Given the description of an element on the screen output the (x, y) to click on. 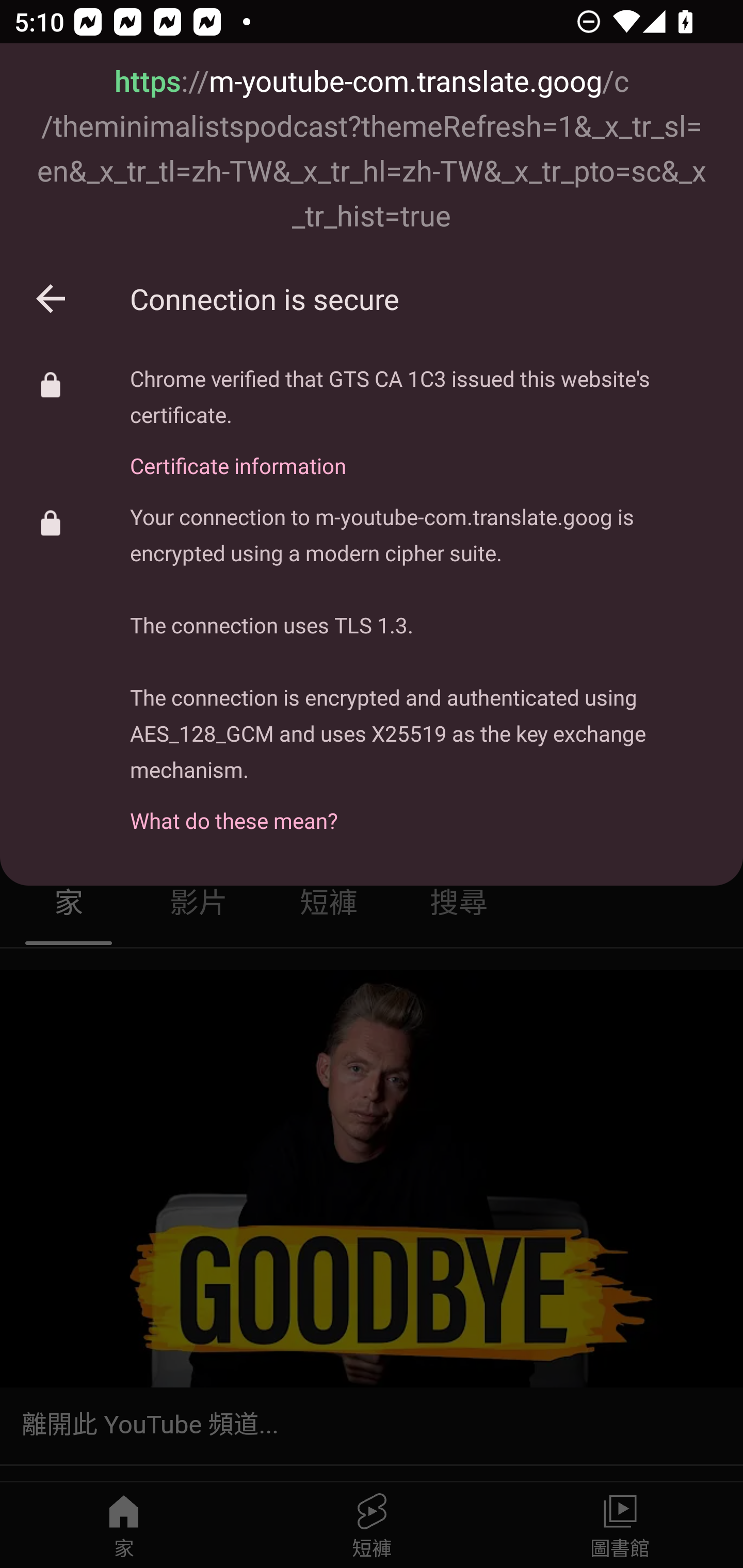
Back (50, 298)
Certificate information (422, 454)
What do these mean? (422, 809)
